Given the description of an element on the screen output the (x, y) to click on. 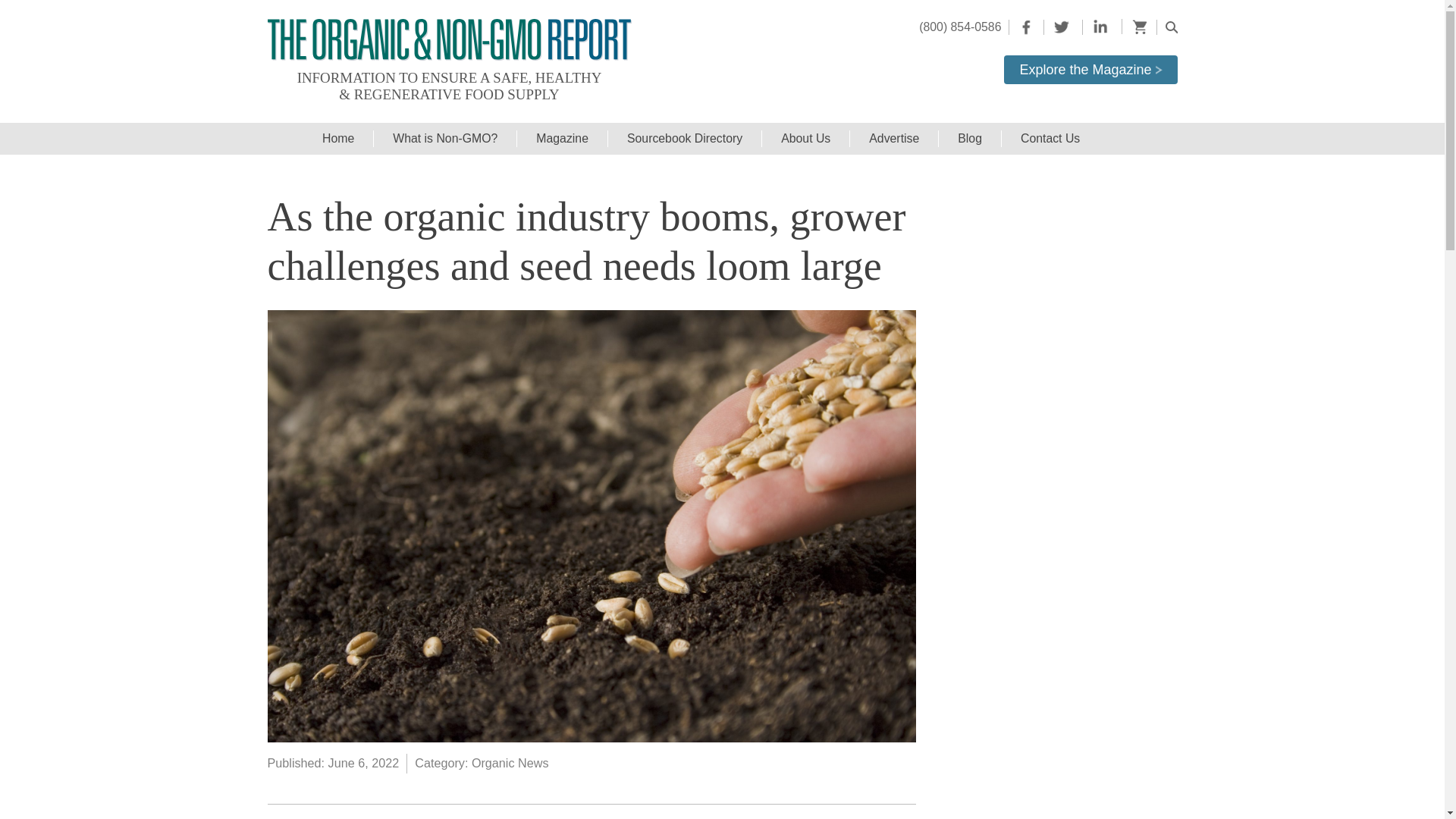
Explore the Magazine (1090, 69)
Sourcebook Directory (684, 138)
Home (337, 138)
About Us (804, 138)
What is Non-GMO? (444, 138)
Blog (969, 138)
Contact Us (1050, 138)
Magazine (561, 138)
Advertise (892, 138)
